Given the description of an element on the screen output the (x, y) to click on. 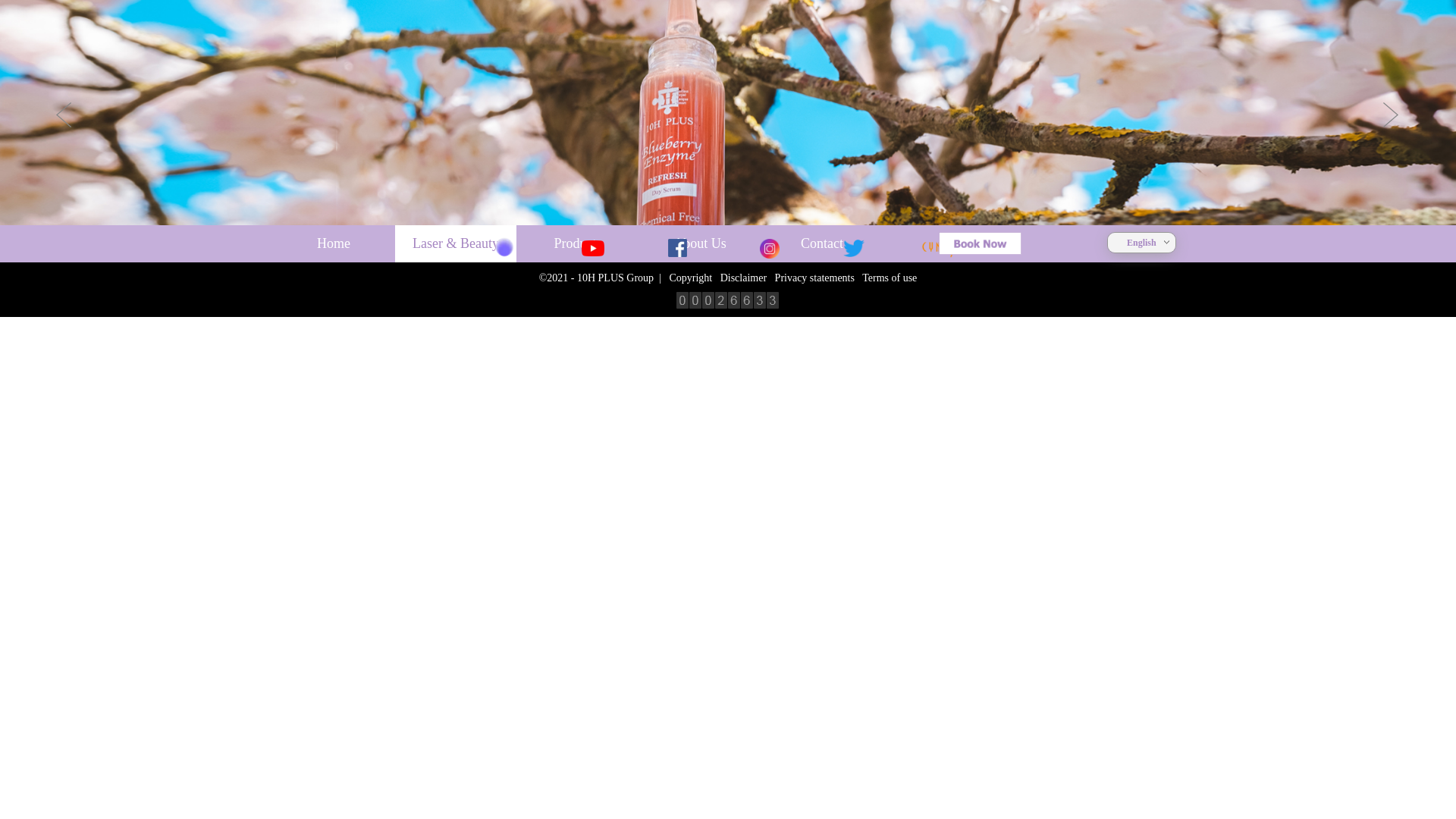
English Element type: text (1141, 241)
Laser & Beauty Element type: text (455, 243)
Contact Element type: text (821, 243)
Home Element type: text (333, 243)
About Us Element type: text (699, 243)
Home Element type: text (333, 243)
shop here Element type: hover (979, 243)
Products Element type: text (577, 243)
